Given the description of an element on the screen output the (x, y) to click on. 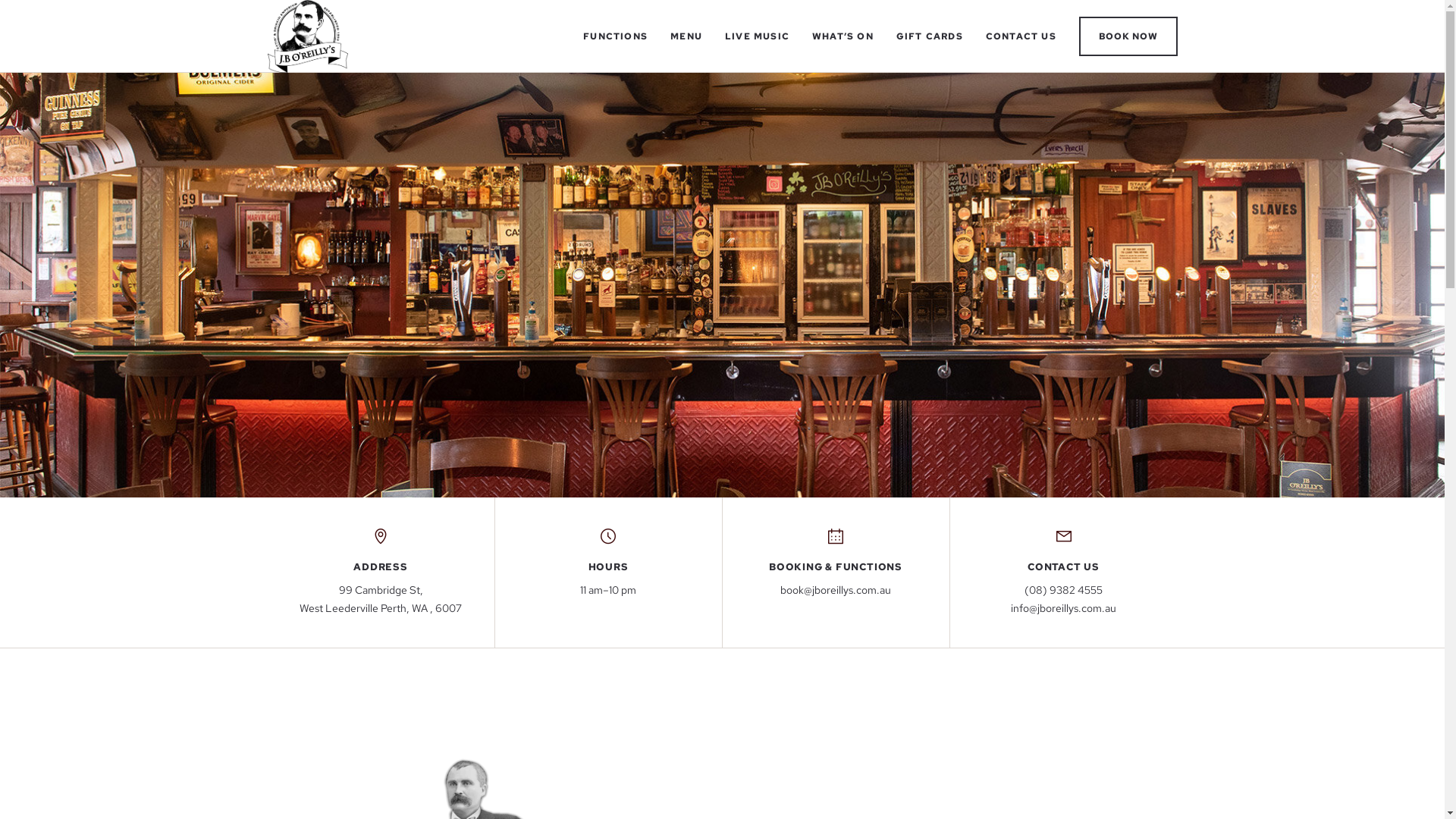
GIFT CARDS Element type: text (929, 36)
BOOK NOW
BOOK NOW Element type: text (1128, 36)
info@jboreillys.com.au Element type: text (1063, 608)
MENU Element type: text (685, 36)
book@jboreillys.com.au Element type: text (835, 590)
JB O'Reillys Element type: hover (308, 36)
LIVE MUSIC Element type: text (756, 36)
(08) 9382 4555 Element type: text (1063, 590)
FUNCTIONS Element type: text (614, 36)
CONTACT US Element type: text (1020, 36)
